Given the description of an element on the screen output the (x, y) to click on. 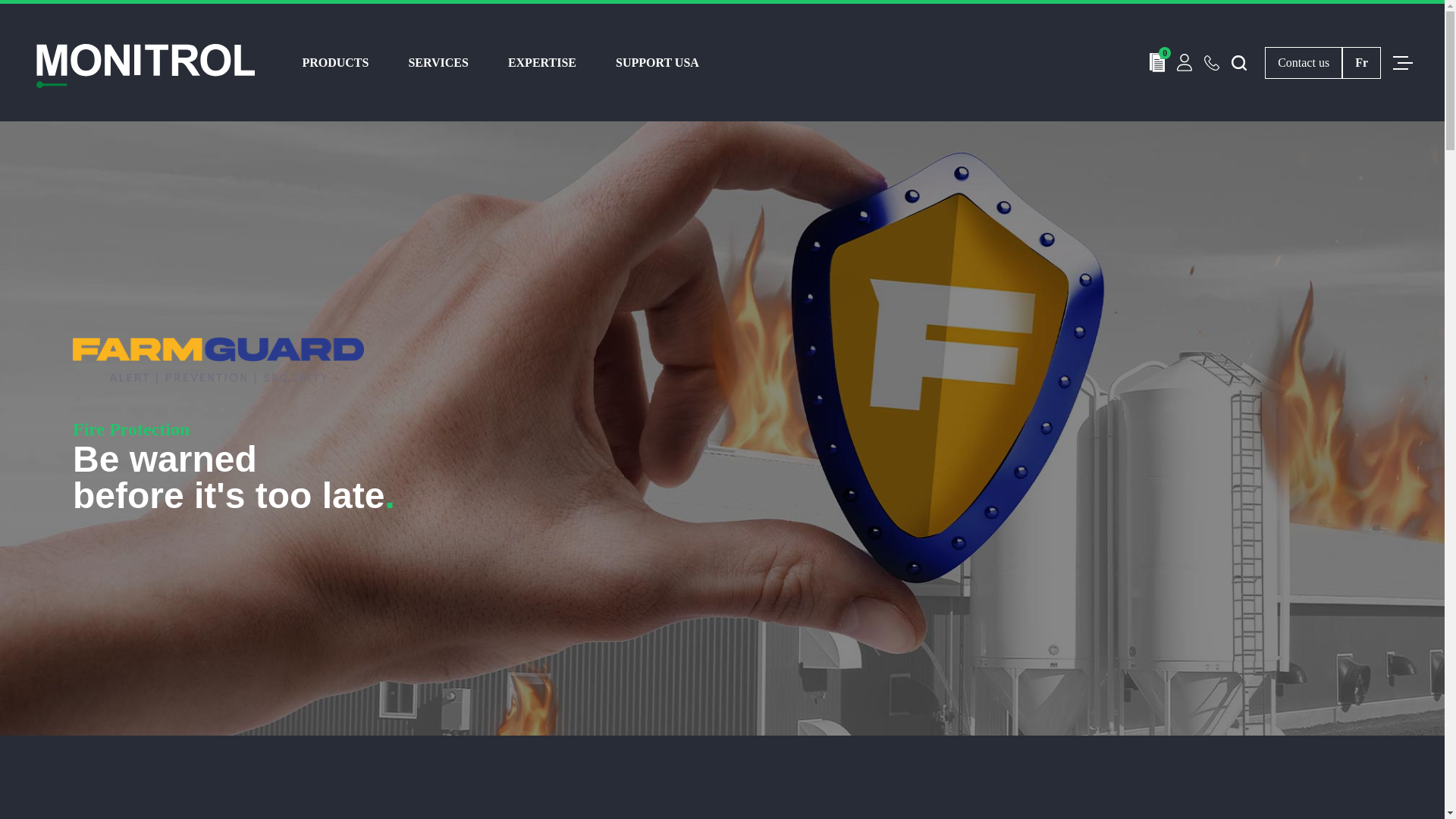
PRODUCTS (334, 62)
Contact us (1303, 62)
SUPPORT USA (656, 62)
SERVICES (437, 62)
EXPERTISE (542, 62)
Fr (1361, 62)
